Given the description of an element on the screen output the (x, y) to click on. 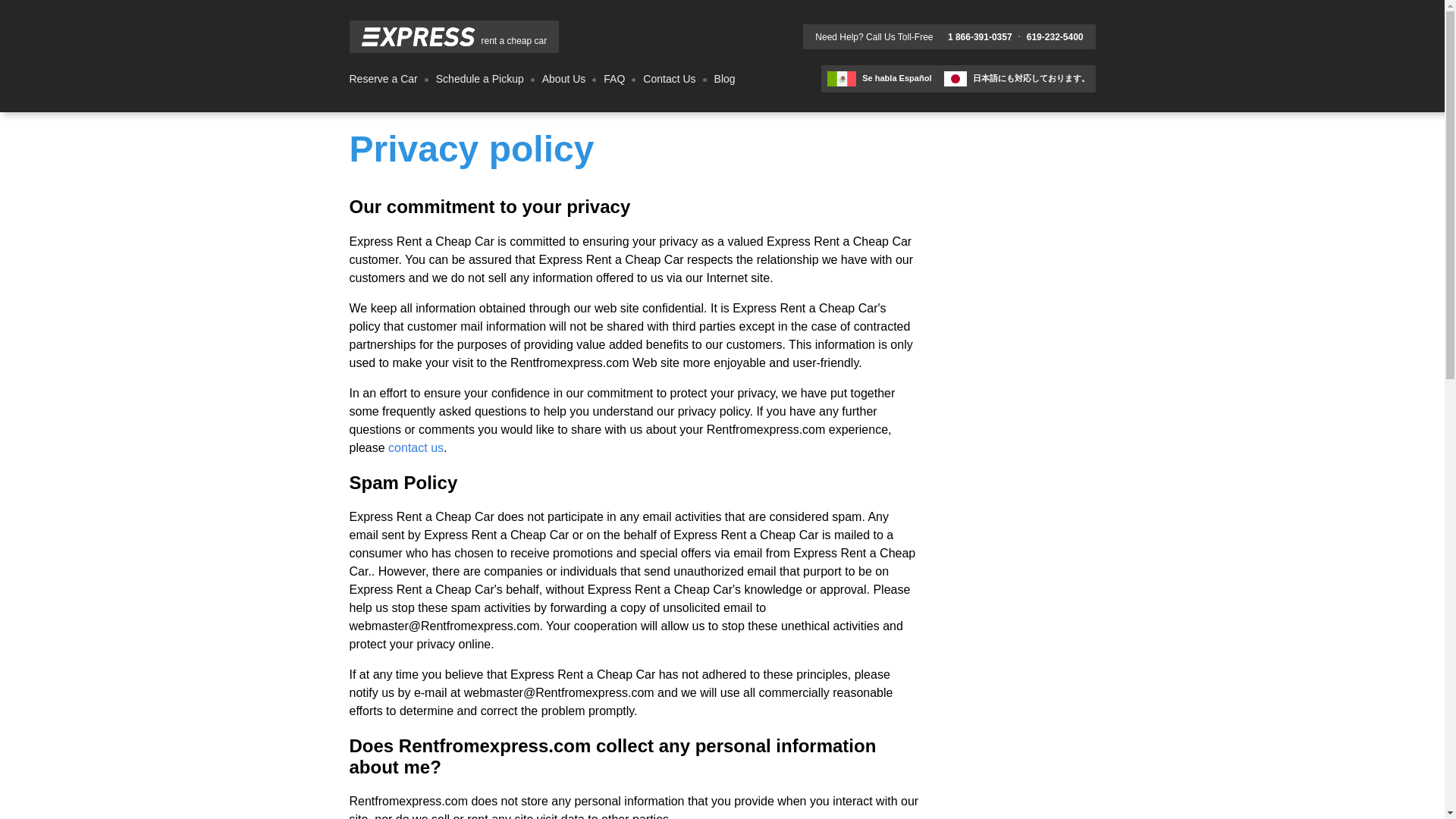
619-232-5400 (1054, 36)
Blog (724, 78)
FAQ (614, 78)
contact us (416, 447)
Contact Us (669, 78)
Express Rent a Cheap Car (417, 35)
About Us (563, 78)
1 866-391-0357 (979, 36)
Reserve a Car (382, 78)
Schedule a Pickup (479, 78)
